Given the description of an element on the screen output the (x, y) to click on. 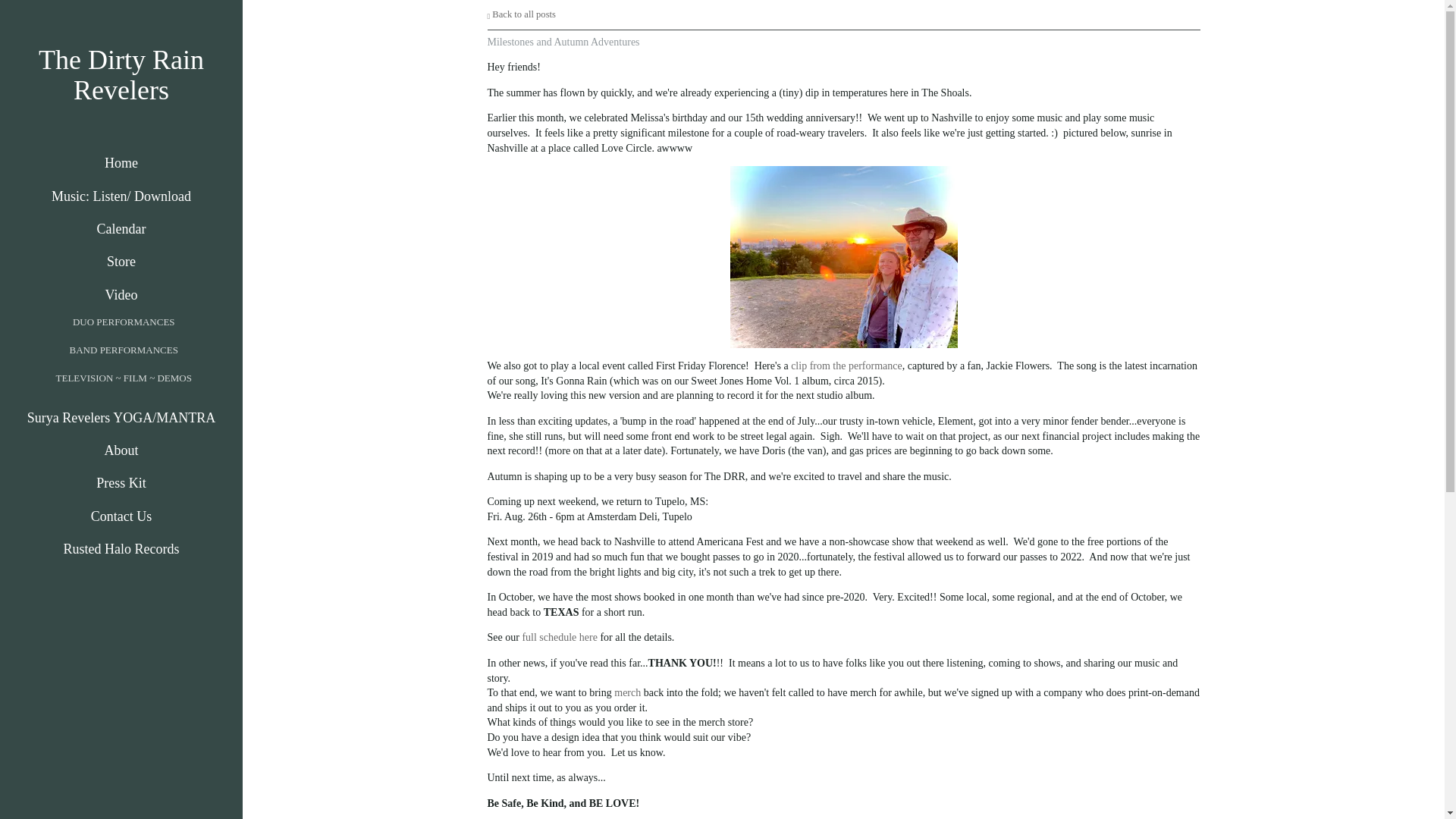
The Dirty Rain Revelers (120, 92)
Calendar (122, 229)
Store (120, 261)
About (121, 450)
Home (121, 163)
Back to all posts (520, 14)
Video (121, 295)
merch (627, 692)
clip from the performance (845, 365)
Press Kit (121, 483)
Rusted Halo Records (121, 549)
DUO PERFORMANCES (123, 322)
full schedule here (558, 636)
Contact Us (121, 516)
BAND PERFORMANCES (123, 350)
